Given the description of an element on the screen output the (x, y) to click on. 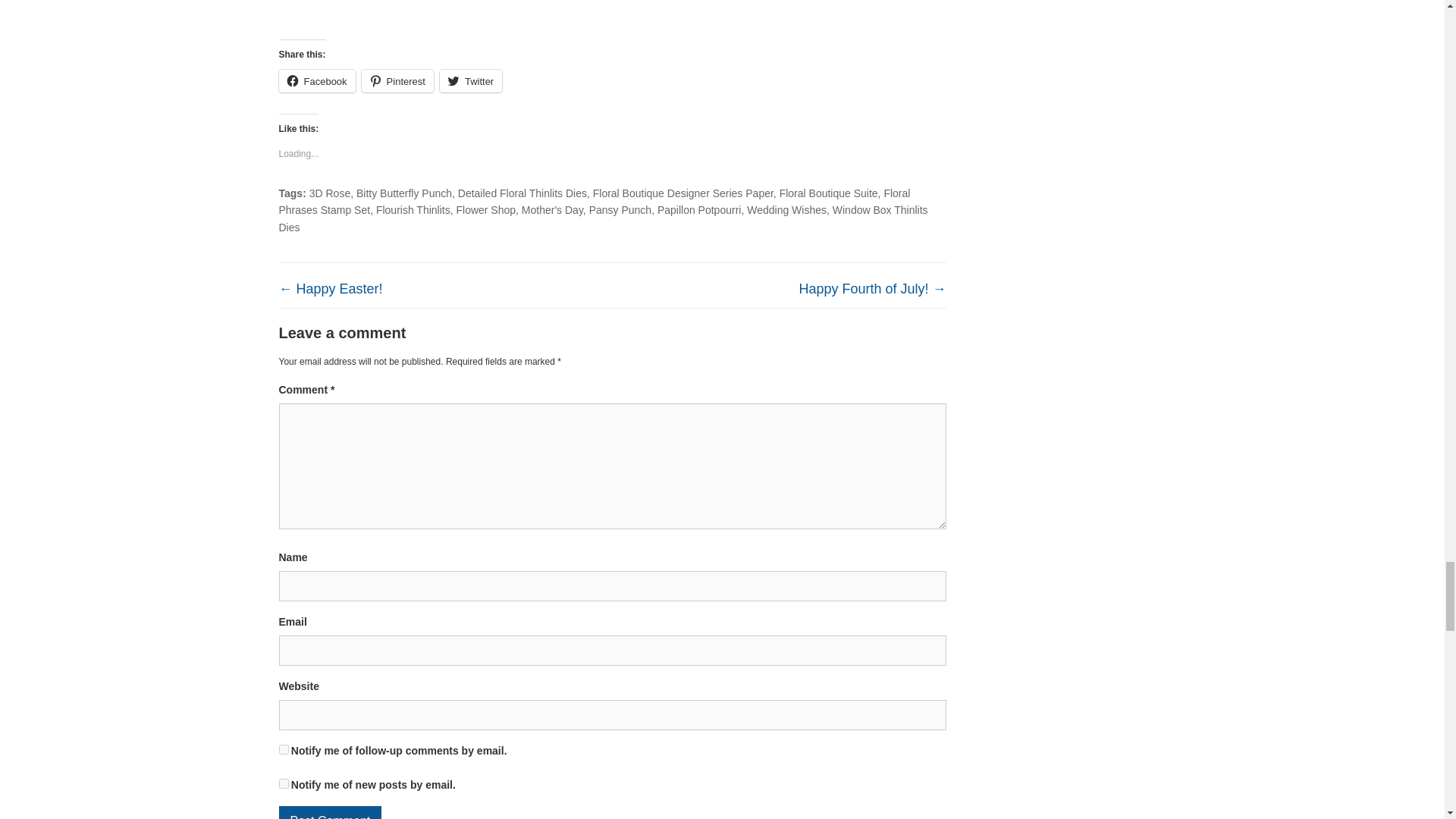
Facebook (317, 80)
Bitty Butterfly Punch (403, 193)
Click to share on Twitter (470, 80)
3D Rose (329, 193)
subscribe (283, 783)
subscribe (283, 749)
Post Comment (330, 812)
Click to share on Pinterest (397, 80)
Pinterest (397, 80)
Click to share on Facebook (317, 80)
Twitter (470, 80)
